Given the description of an element on the screen output the (x, y) to click on. 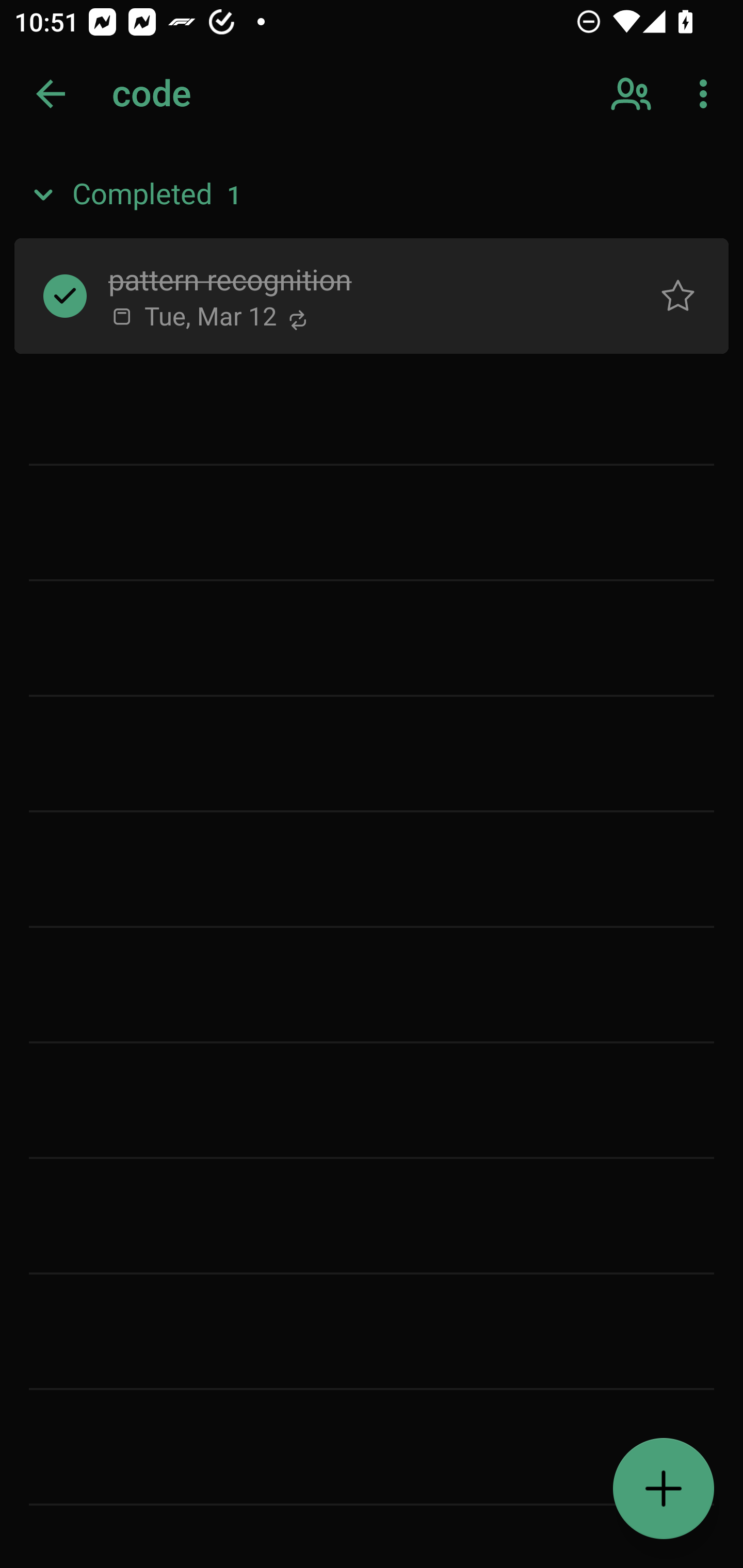
Back (50, 93)
testappium002@outlook.com Enter search (185, 93)
Sharing options (632, 93)
More options (706, 93)
Completed, 1 item, Expanded Completed 1 (371, 195)
Completed task pattern recognition, Button (64, 295)
Normal task pattern recognition, Button (677, 295)
Add a task (663, 1488)
